Given the description of an element on the screen output the (x, y) to click on. 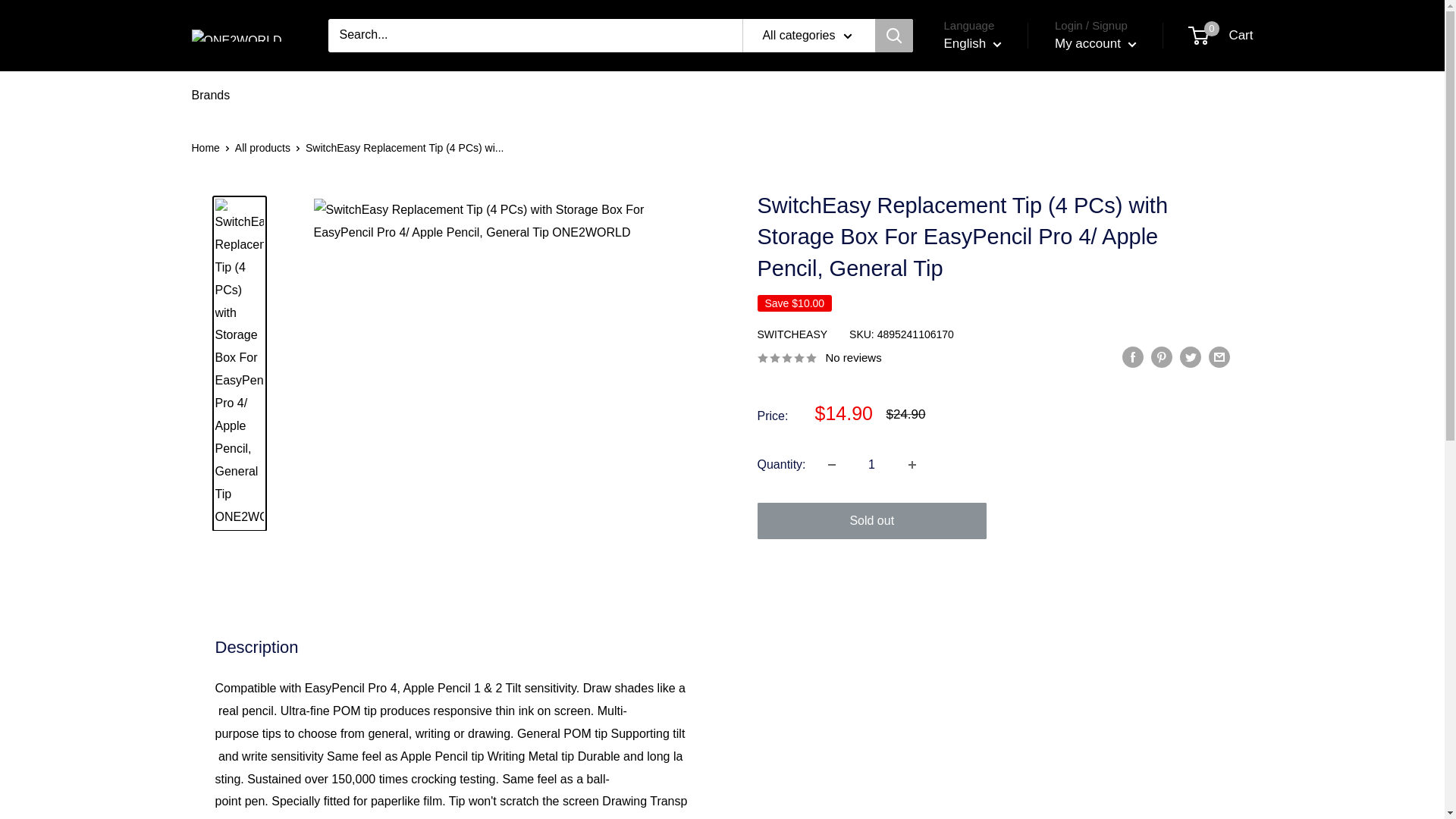
No reviews (818, 356)
id (981, 110)
Home (204, 147)
All products (261, 147)
Decrease quantity by 1 (831, 464)
ONE2WORLD (243, 35)
My account (1095, 43)
English (972, 43)
Increase quantity by 1 (912, 464)
SWITCHEASY (792, 334)
ms (981, 134)
1 (871, 464)
en (1221, 35)
th (981, 87)
